Given the description of an element on the screen output the (x, y) to click on. 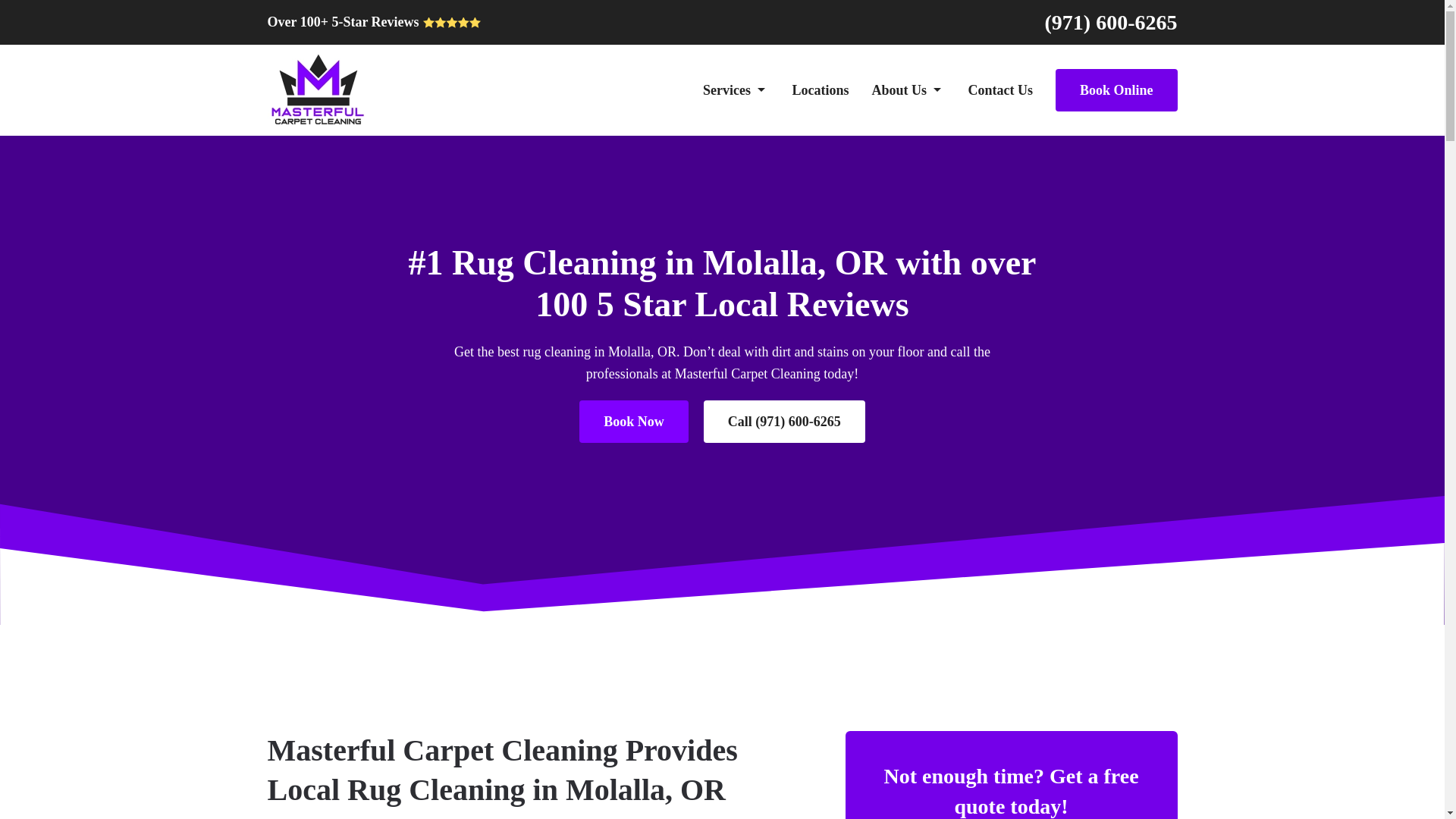
Book Now (633, 421)
Book Online (1116, 89)
